Given the description of an element on the screen output the (x, y) to click on. 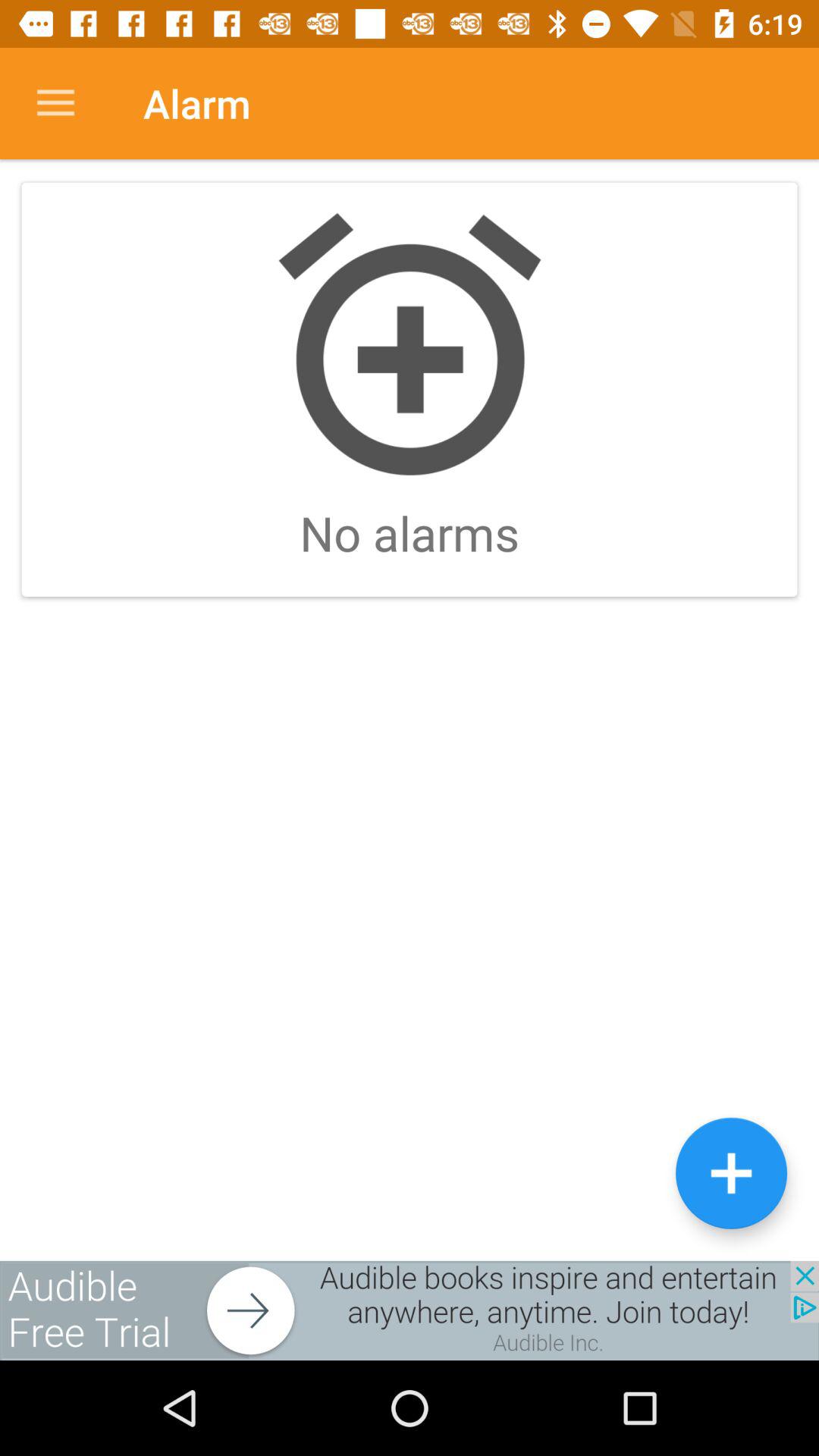
add alarm (731, 1173)
